Given the description of an element on the screen output the (x, y) to click on. 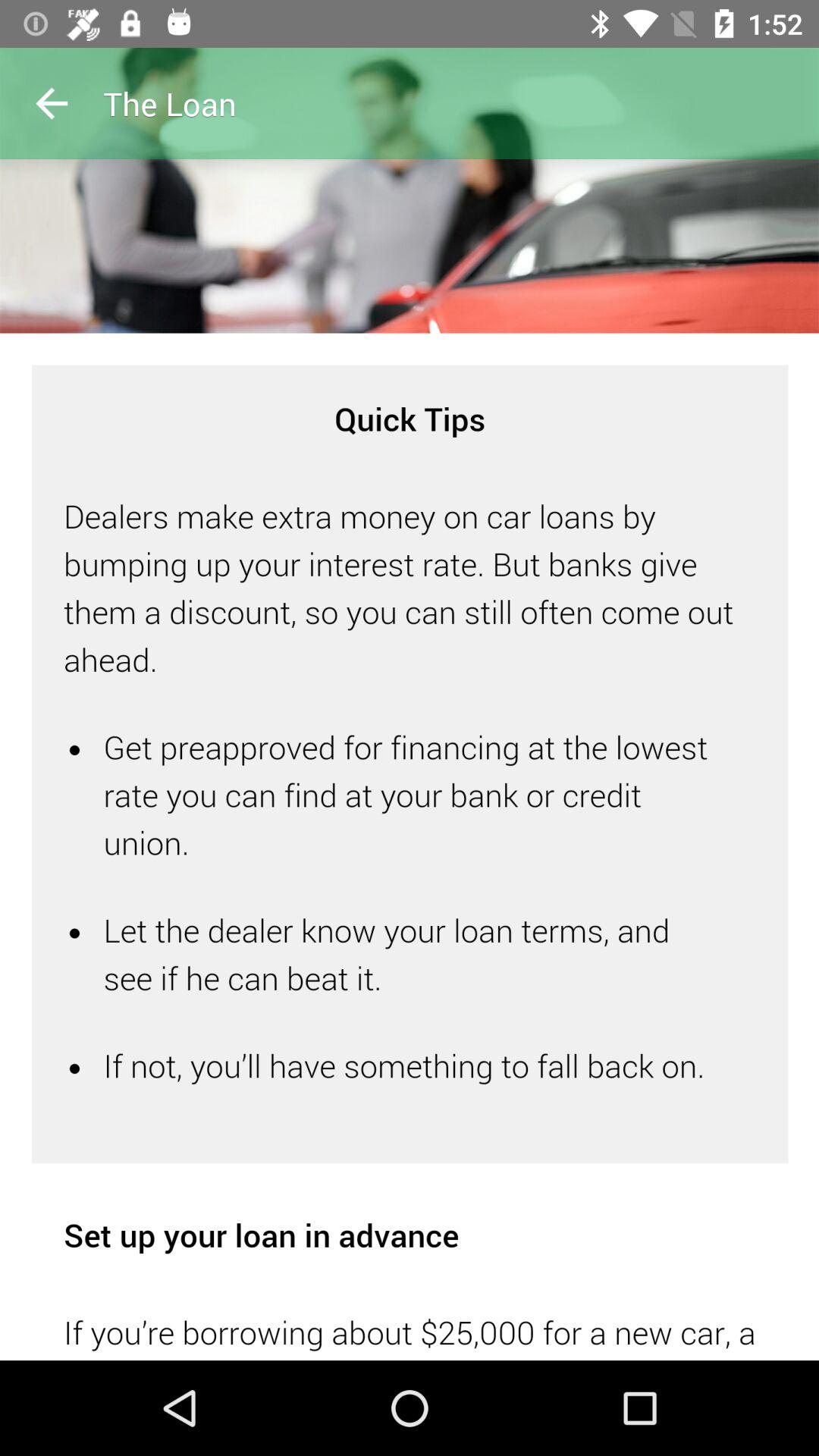
previous button (51, 103)
